Given the description of an element on the screen output the (x, y) to click on. 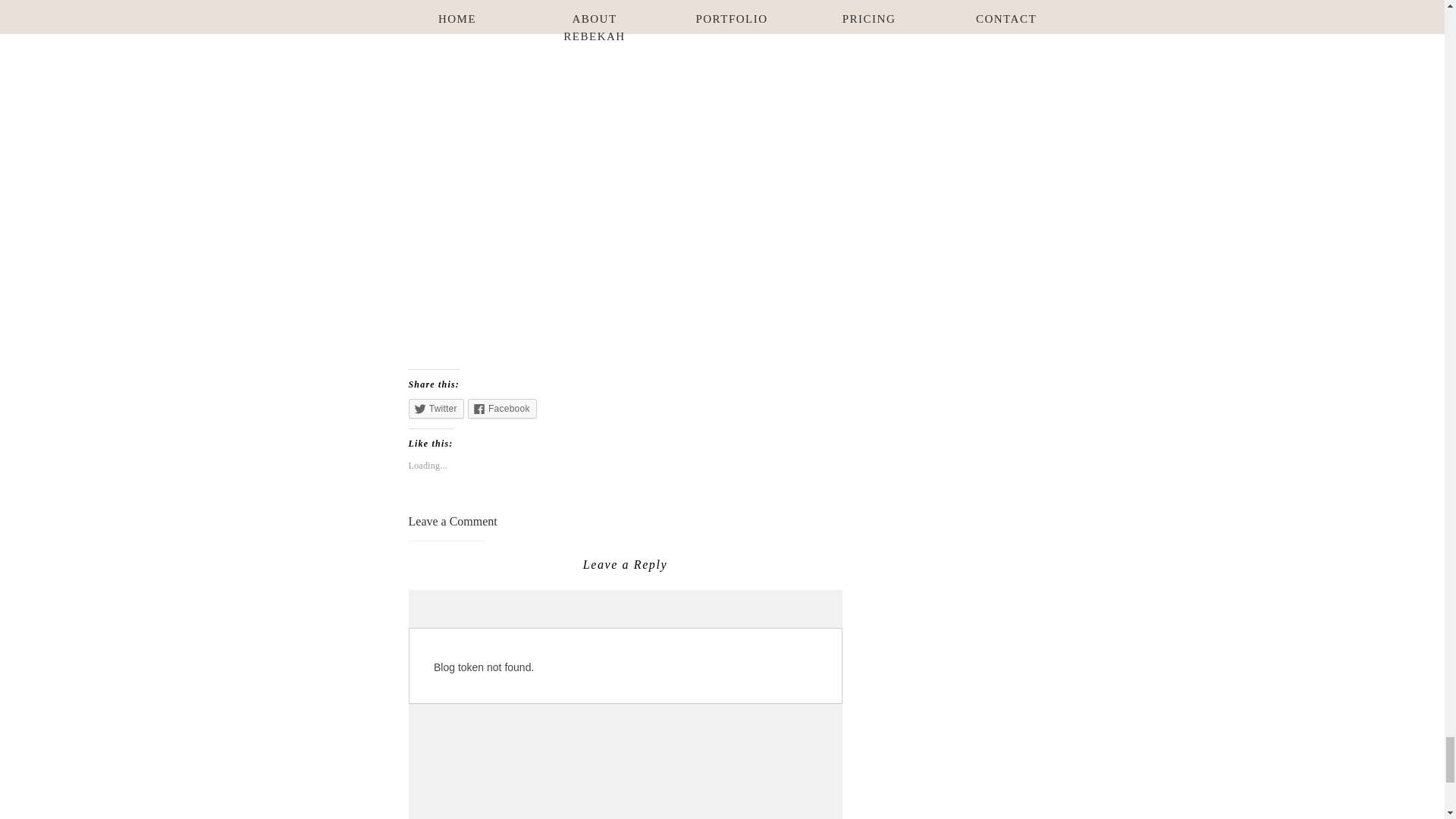
Click to share on Facebook (502, 408)
Twitter (435, 408)
Leave a Comment (451, 521)
Click to share on Twitter (435, 408)
Comment Form (624, 704)
Facebook (502, 408)
